Given the description of an element on the screen output the (x, y) to click on. 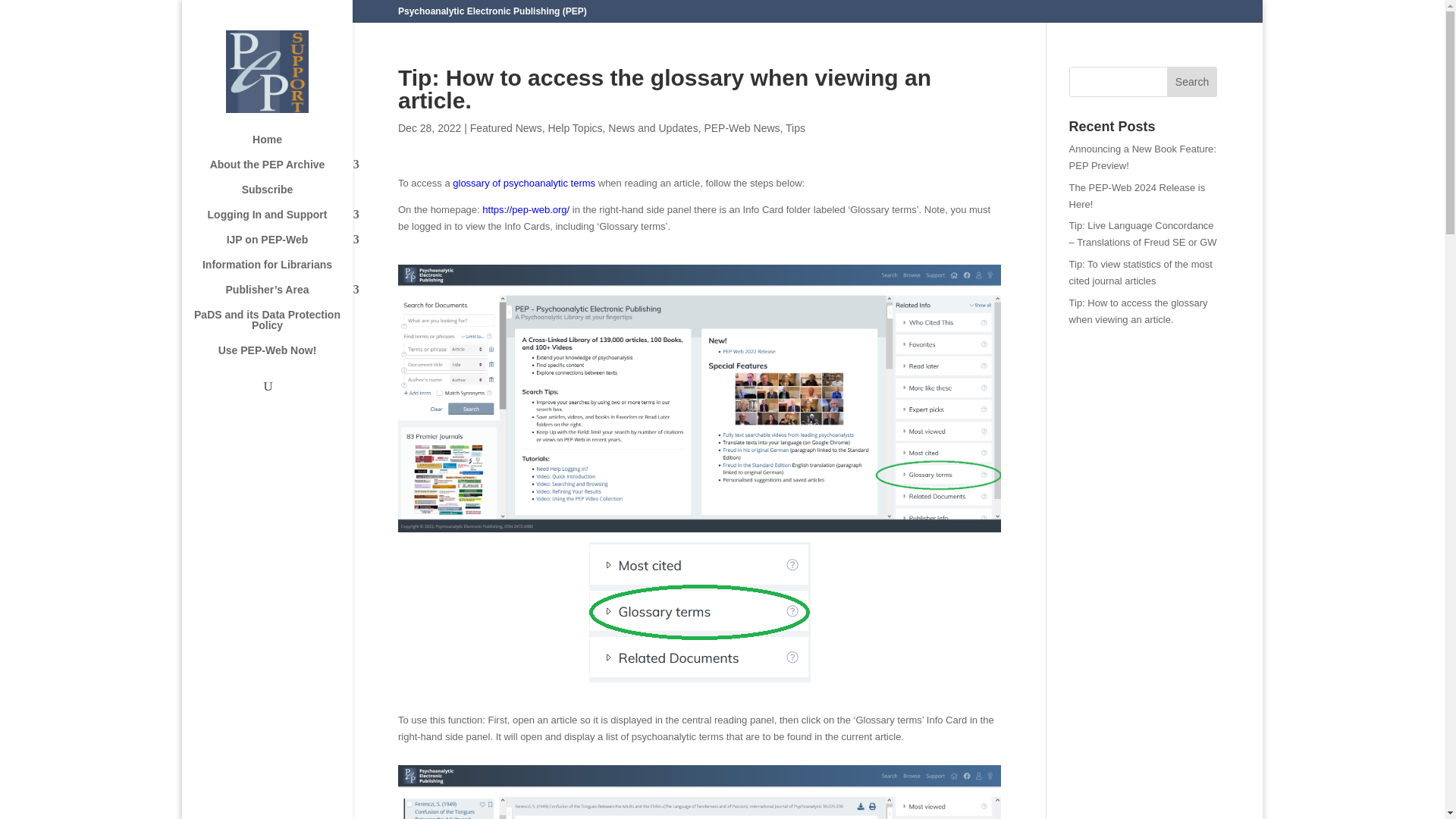
Home (282, 146)
About the PEP Archive (282, 171)
Information for Librarians (282, 271)
IJP on PEP-Web (282, 246)
About the PEP Archive (282, 171)
Use PEP-Web Now! (282, 357)
Logging In and Support (282, 221)
Search (1192, 81)
PaDS and its Data Protection Policy (282, 326)
Subscribe (282, 196)
